Given the description of an element on the screen output the (x, y) to click on. 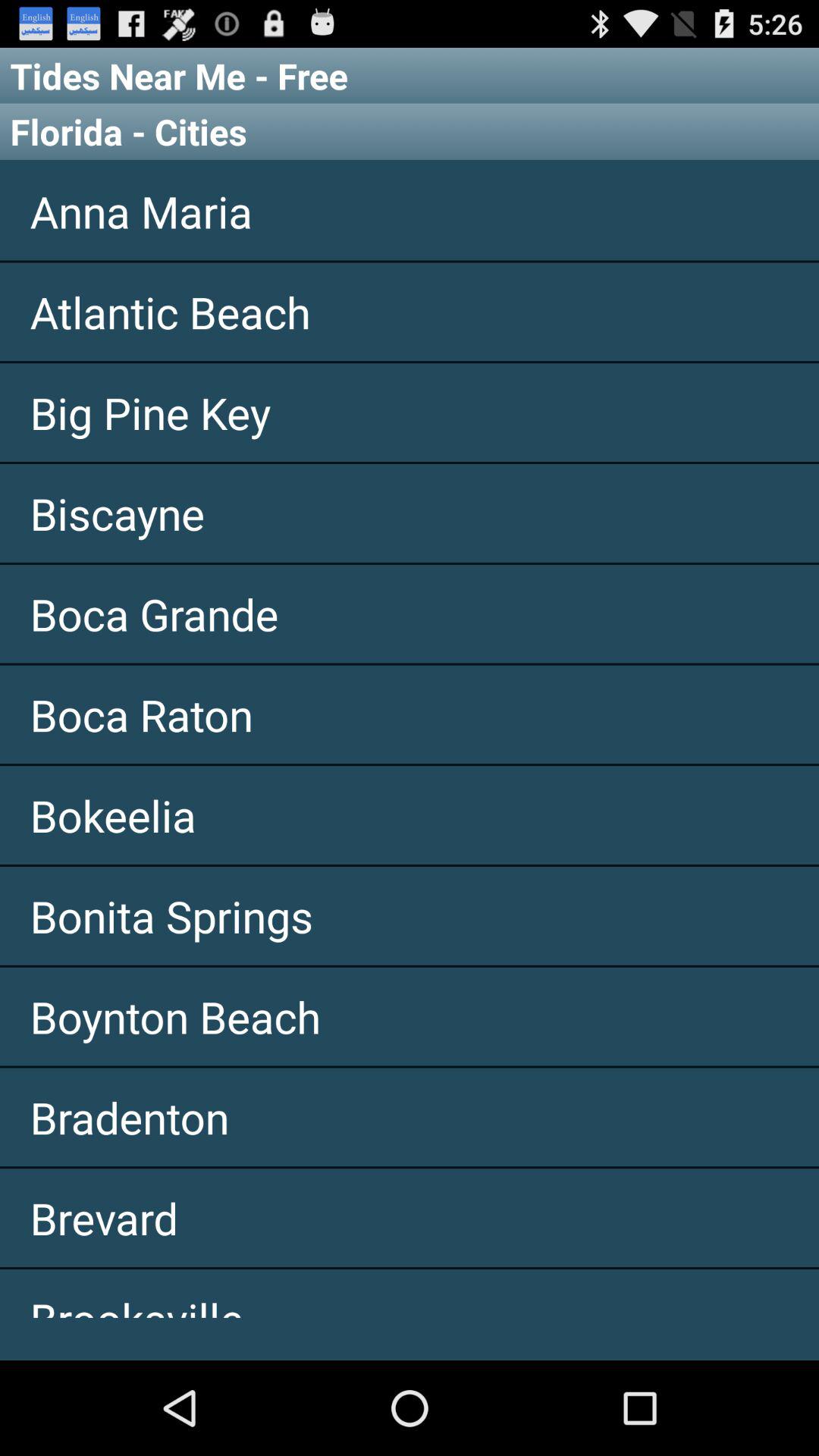
open item above anna maria icon (409, 131)
